Given the description of an element on the screen output the (x, y) to click on. 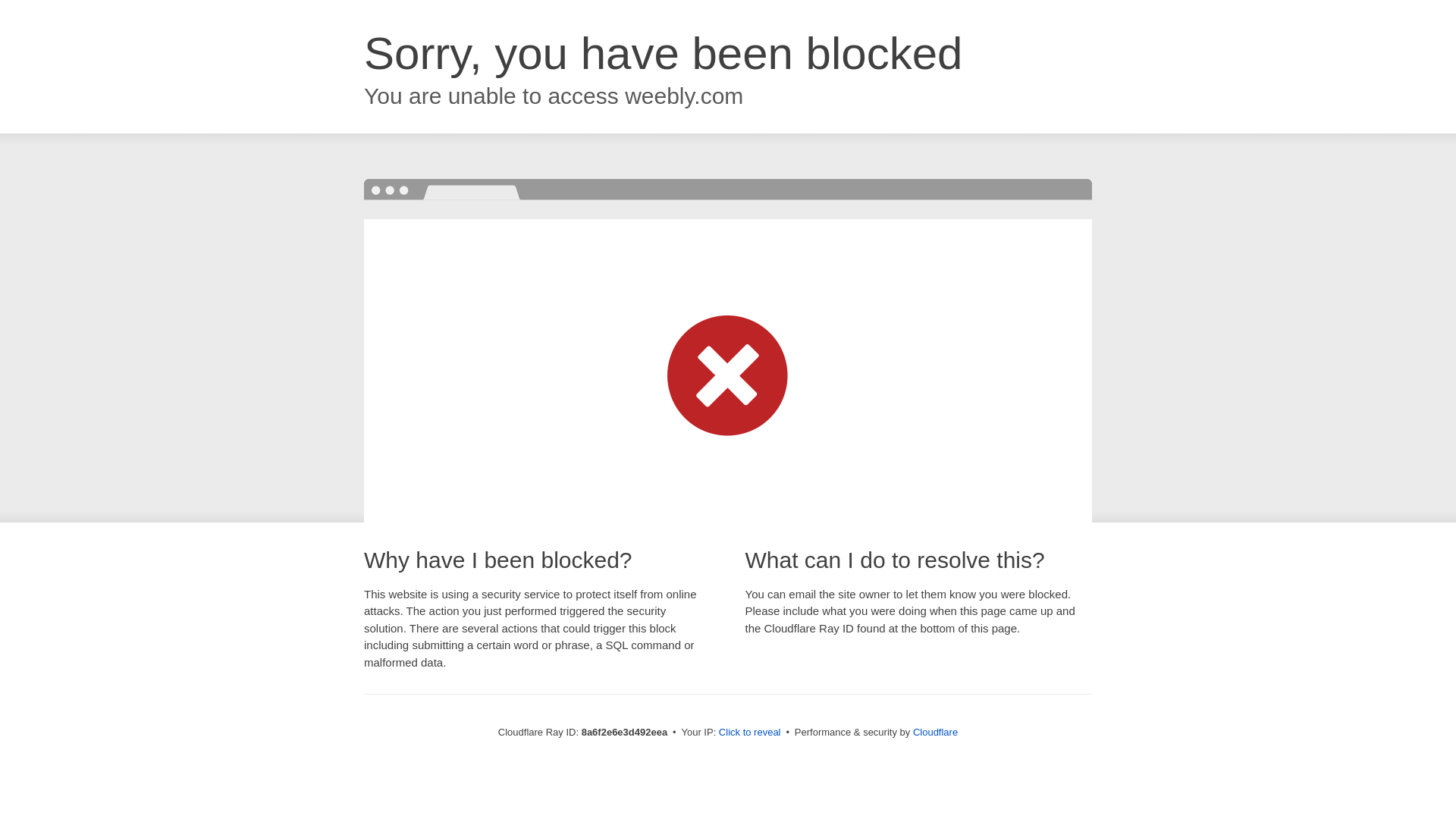
Click to reveal (749, 732)
Cloudflare (935, 731)
